Given the description of an element on the screen output the (x, y) to click on. 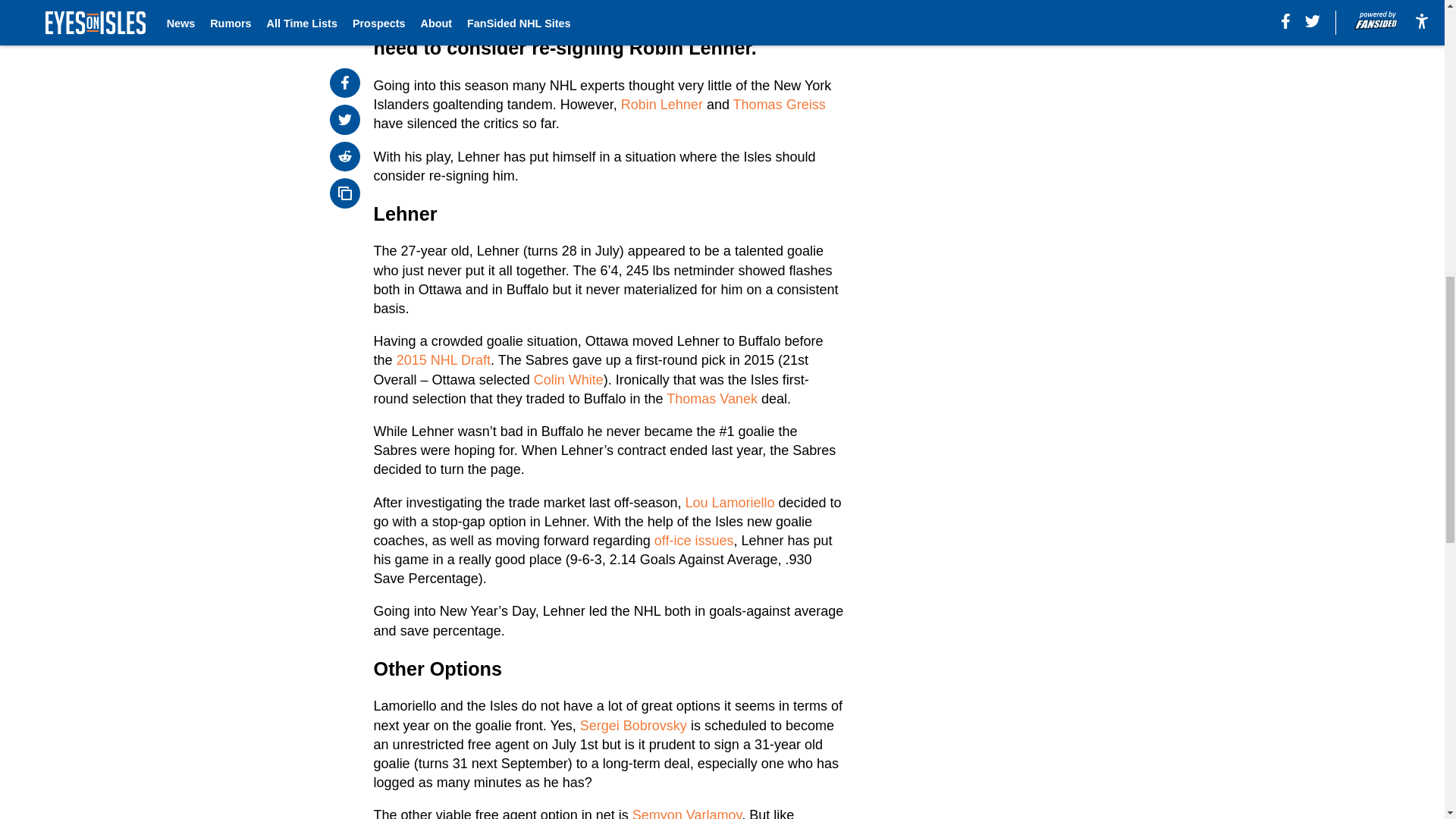
Sergei Bobrovsky (633, 725)
off-ice issues (693, 540)
2015 NHL Draft (443, 359)
Lou Lamoriello (727, 502)
Colin White (569, 379)
Thomas Greiss (779, 104)
Semyon Varlamov (686, 813)
Robin Lehner (662, 104)
Thomas Vanek (711, 398)
